Given the description of an element on the screen output the (x, y) to click on. 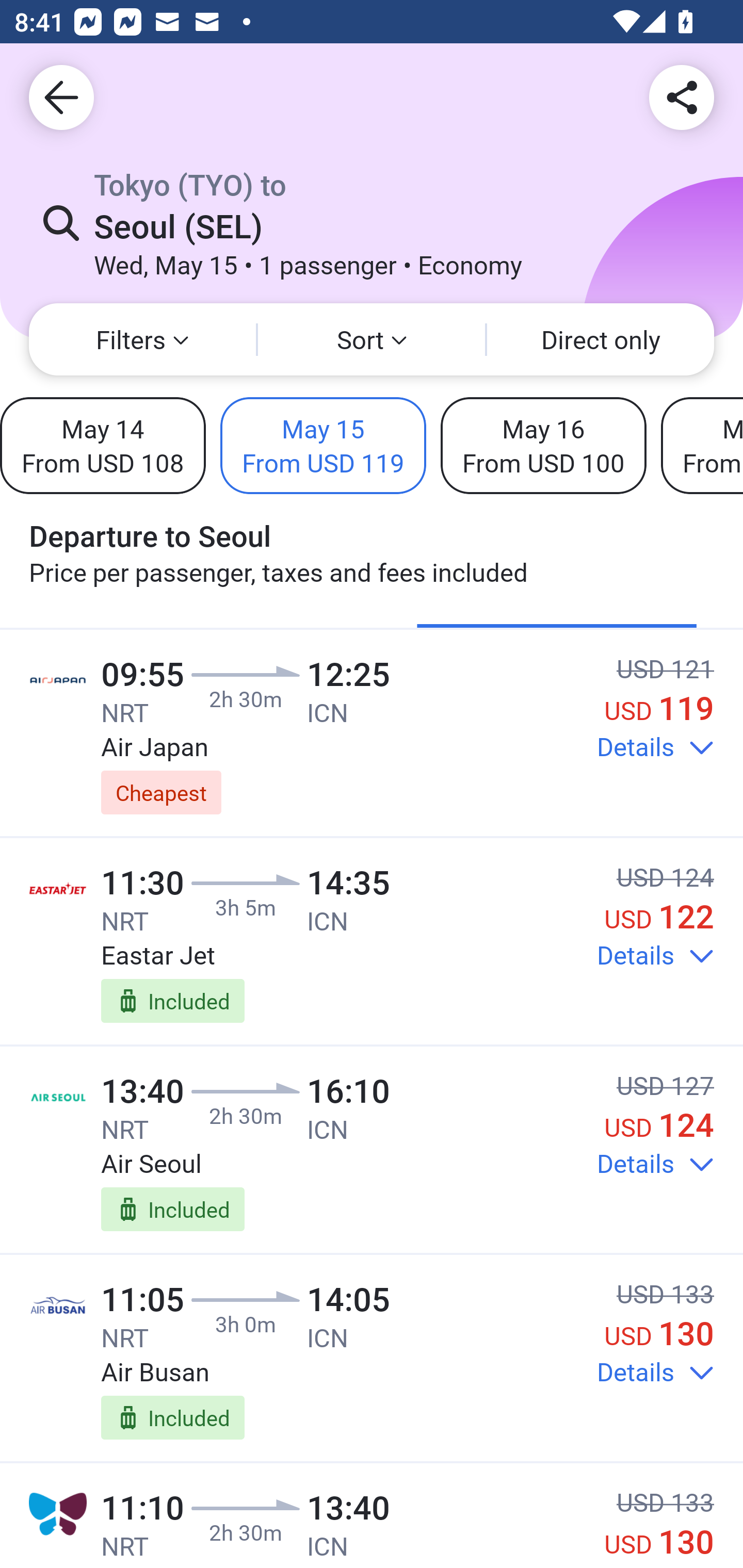
Filters (141, 339)
Sort (371, 339)
Direct only (600, 339)
May 14 From USD 108 (102, 444)
May 15 From USD 119 (323, 444)
May 16 From USD 100 (543, 444)
